Given the description of an element on the screen output the (x, y) to click on. 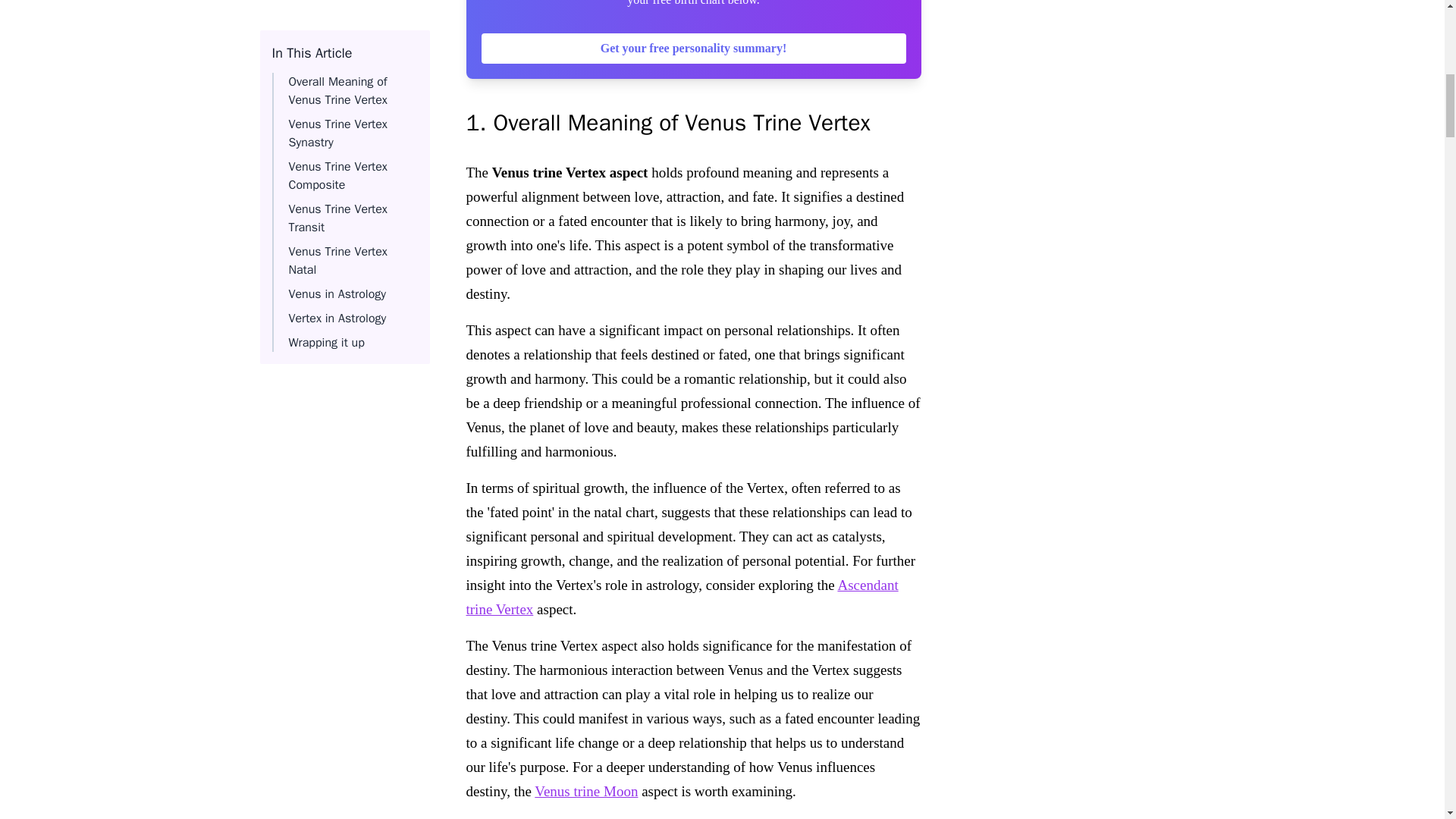
Venus Trine Vertex Transit (337, 12)
Venus trine Moon (585, 790)
Ascendant trine Vertex (681, 597)
Get your free personality summary! (692, 48)
Venus in Astrology (336, 84)
Venus Trine Vertex Natal (337, 51)
Wrapping it up (326, 133)
Vertex in Astrology (336, 109)
